Given the description of an element on the screen output the (x, y) to click on. 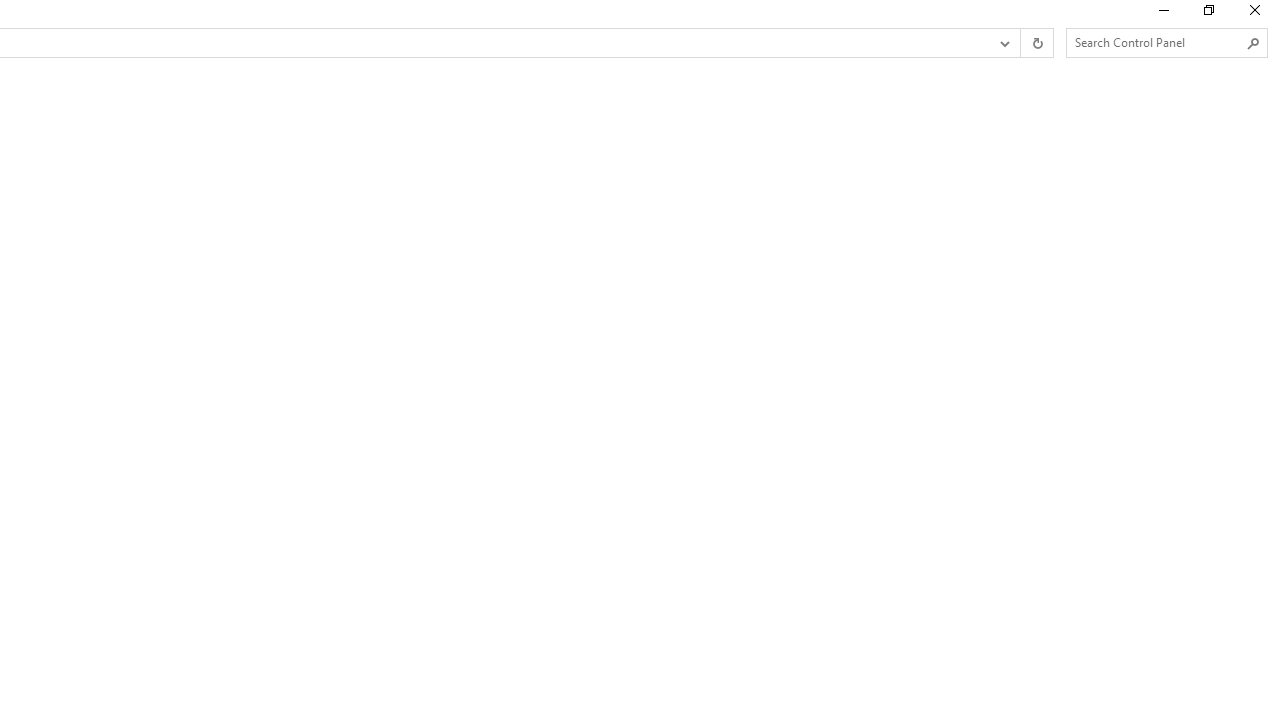
Search (1253, 43)
Address band toolbar (1019, 43)
Refresh "Windows Defender Firewall" (F5) (1036, 43)
Previous Locations (1003, 43)
Restore (1208, 14)
Minimize (1162, 14)
Search Box (1156, 42)
